Given the description of an element on the screen output the (x, y) to click on. 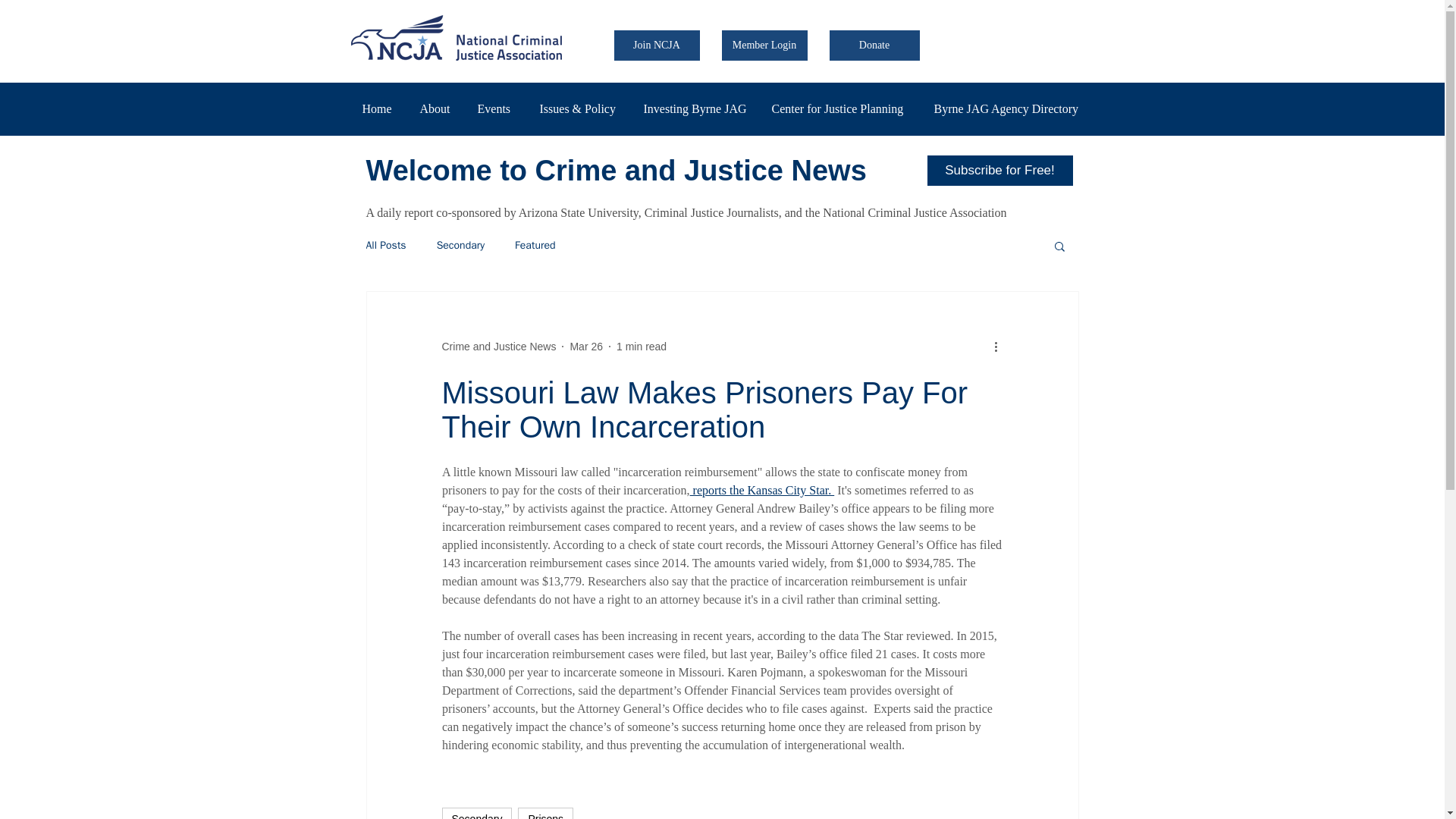
Crime and Justice News (498, 346)
Events (496, 108)
Donate (874, 45)
1 min read (640, 346)
Center for Justice Planning (840, 108)
Member Login (765, 45)
Join NCJA (657, 45)
About (436, 108)
Investing Byrne JAG (695, 108)
Mar 26 (585, 346)
